Given the description of an element on the screen output the (x, y) to click on. 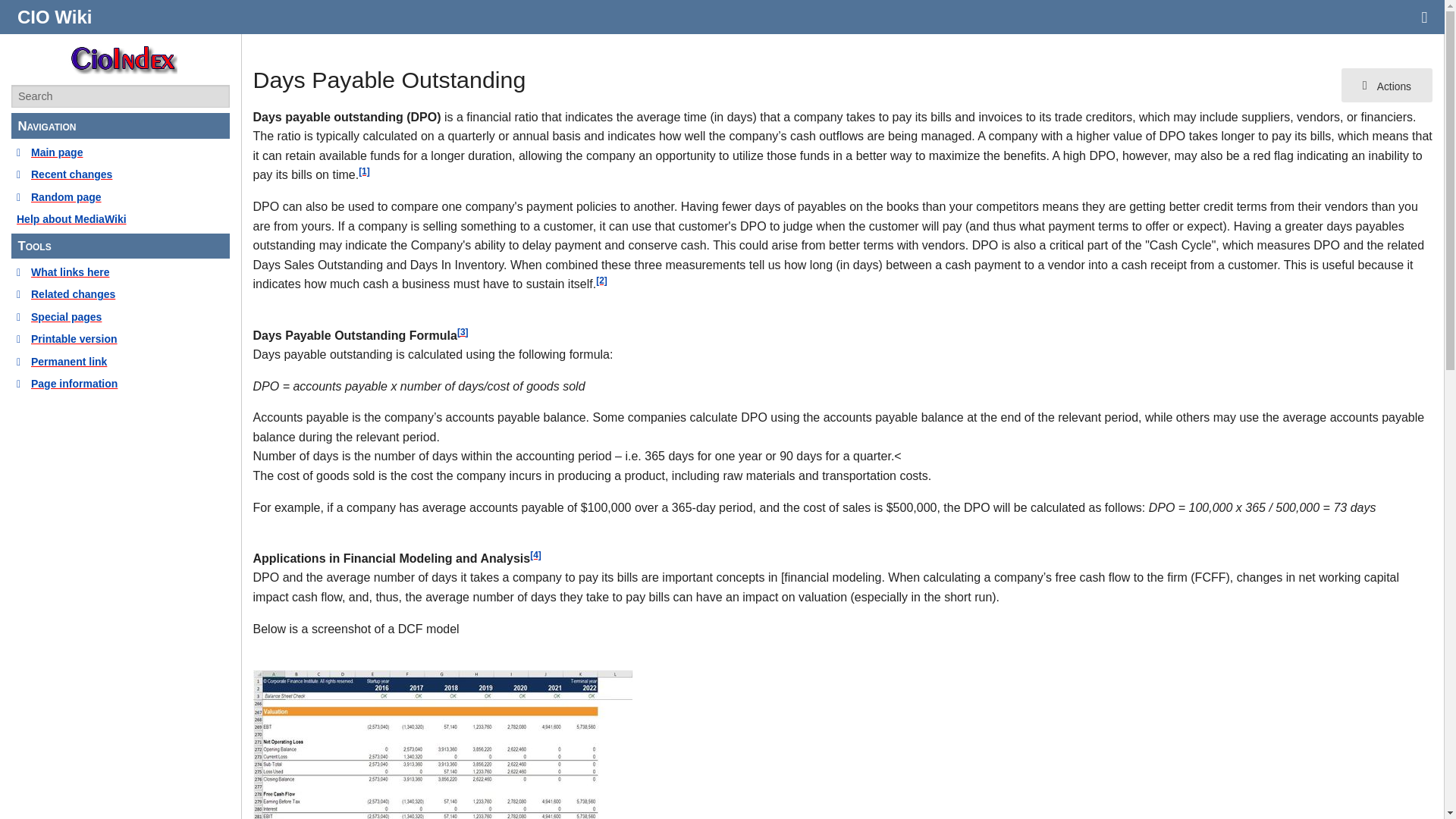
CIO Wiki (54, 16)
What links here (120, 271)
Recent changes (120, 174)
Main page (120, 152)
Page information (120, 383)
Help about MediaWiki (120, 218)
Permanent link (120, 361)
Random page (120, 197)
Related changes (120, 293)
Special pages (120, 316)
 Actions (1386, 84)
Printable version (120, 338)
